Given the description of an element on the screen output the (x, y) to click on. 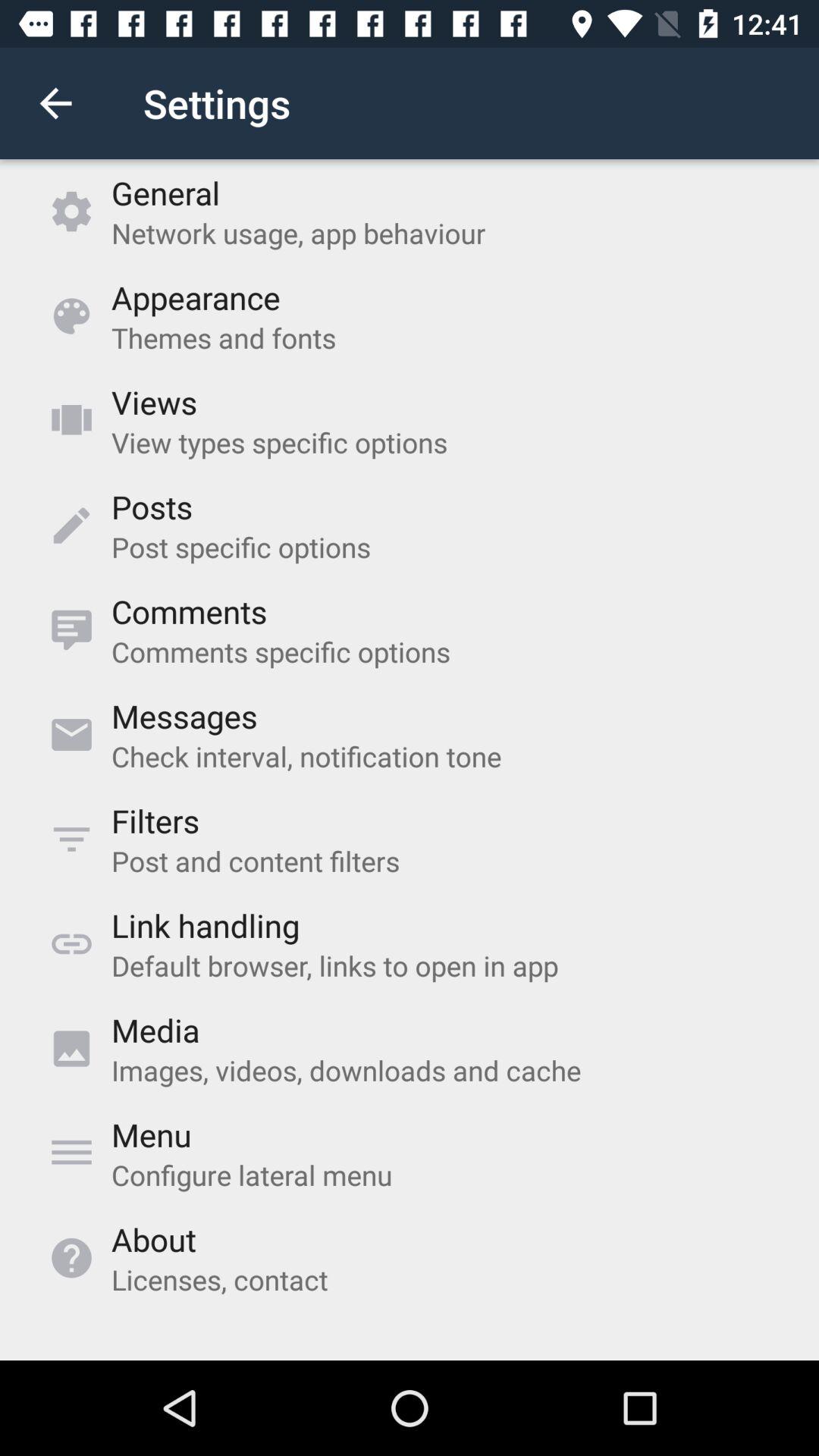
tap the posts (151, 506)
